Given the description of an element on the screen output the (x, y) to click on. 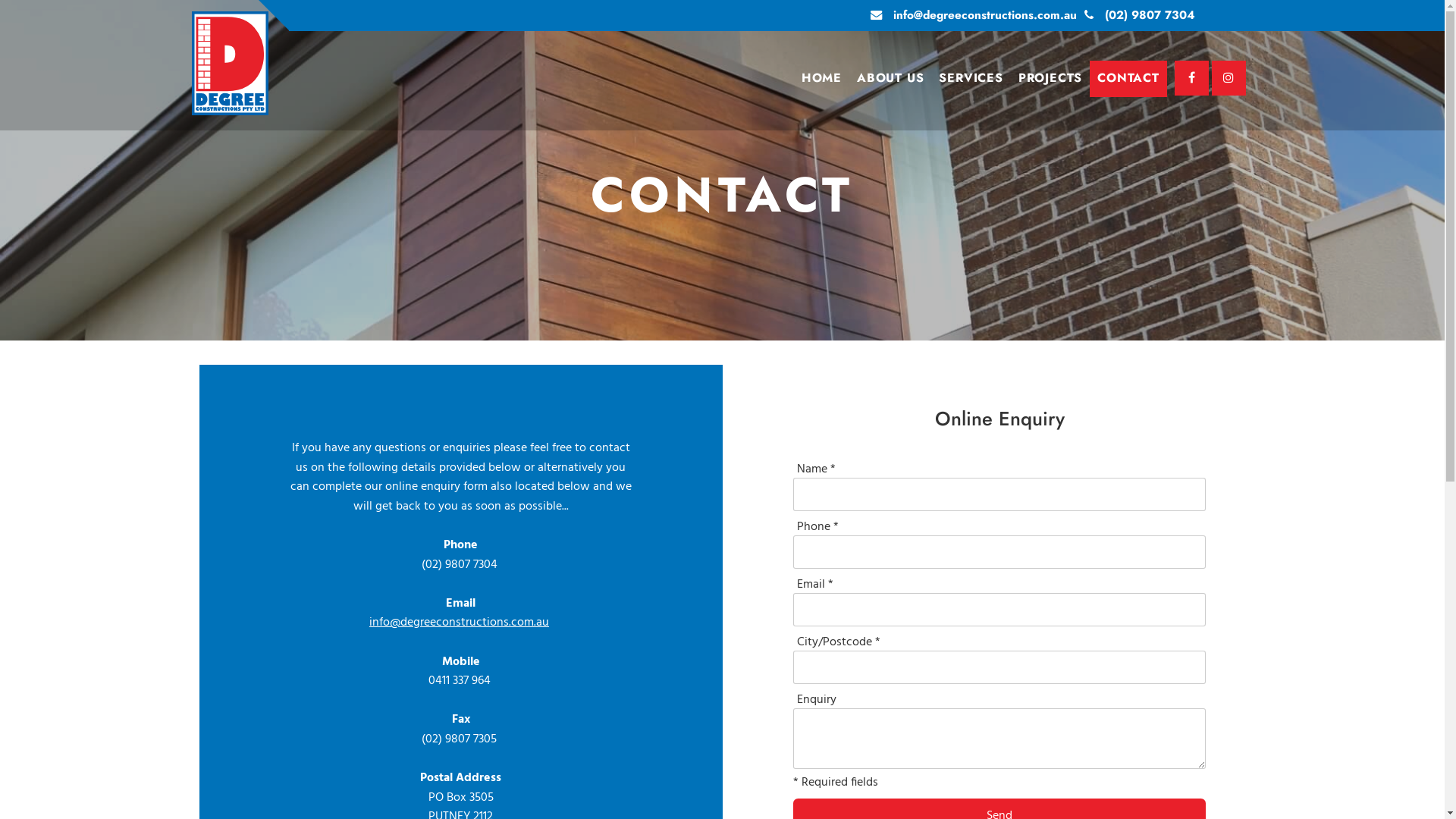
SERVICES Element type: text (970, 78)
PROJECTS Element type: text (1049, 78)
info@degreeconstructions.com.au Element type: text (973, 15)
info@degreeconstructions.com.au Element type: text (459, 622)
HOME Element type: text (821, 78)
CONTACT Element type: text (1128, 78)
ABOUT US Element type: text (890, 78)
